Given the description of an element on the screen output the (x, y) to click on. 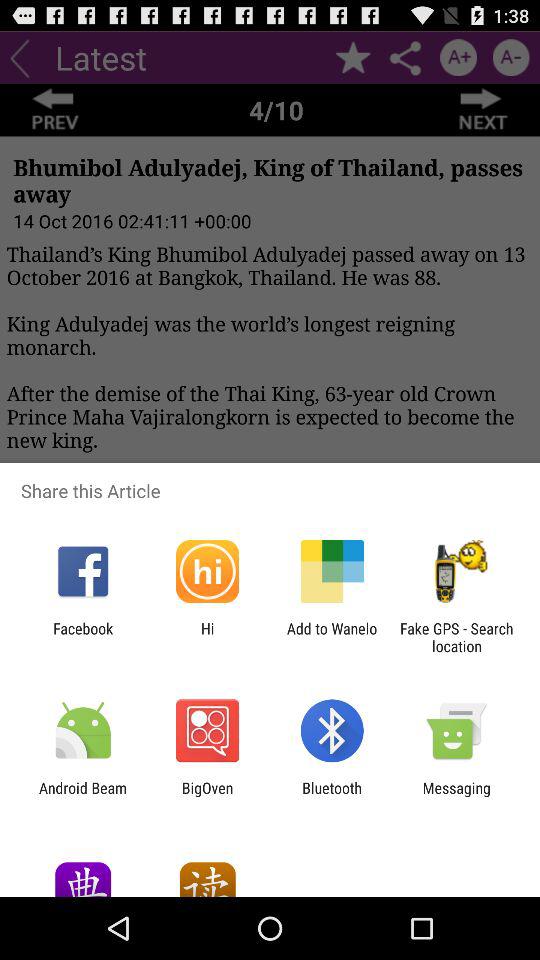
open icon next to the fake gps search (331, 637)
